Given the description of an element on the screen output the (x, y) to click on. 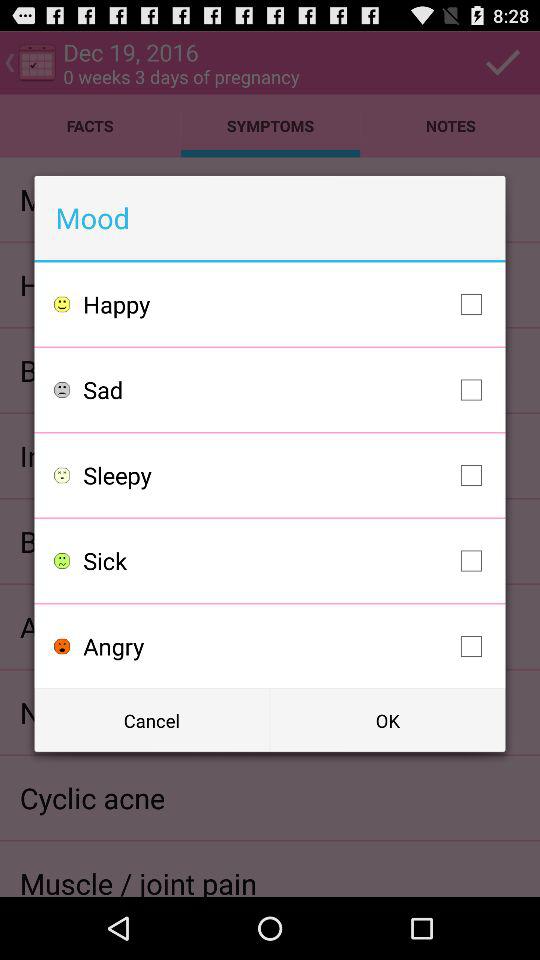
scroll until the sick item (287, 560)
